Given the description of an element on the screen output the (x, y) to click on. 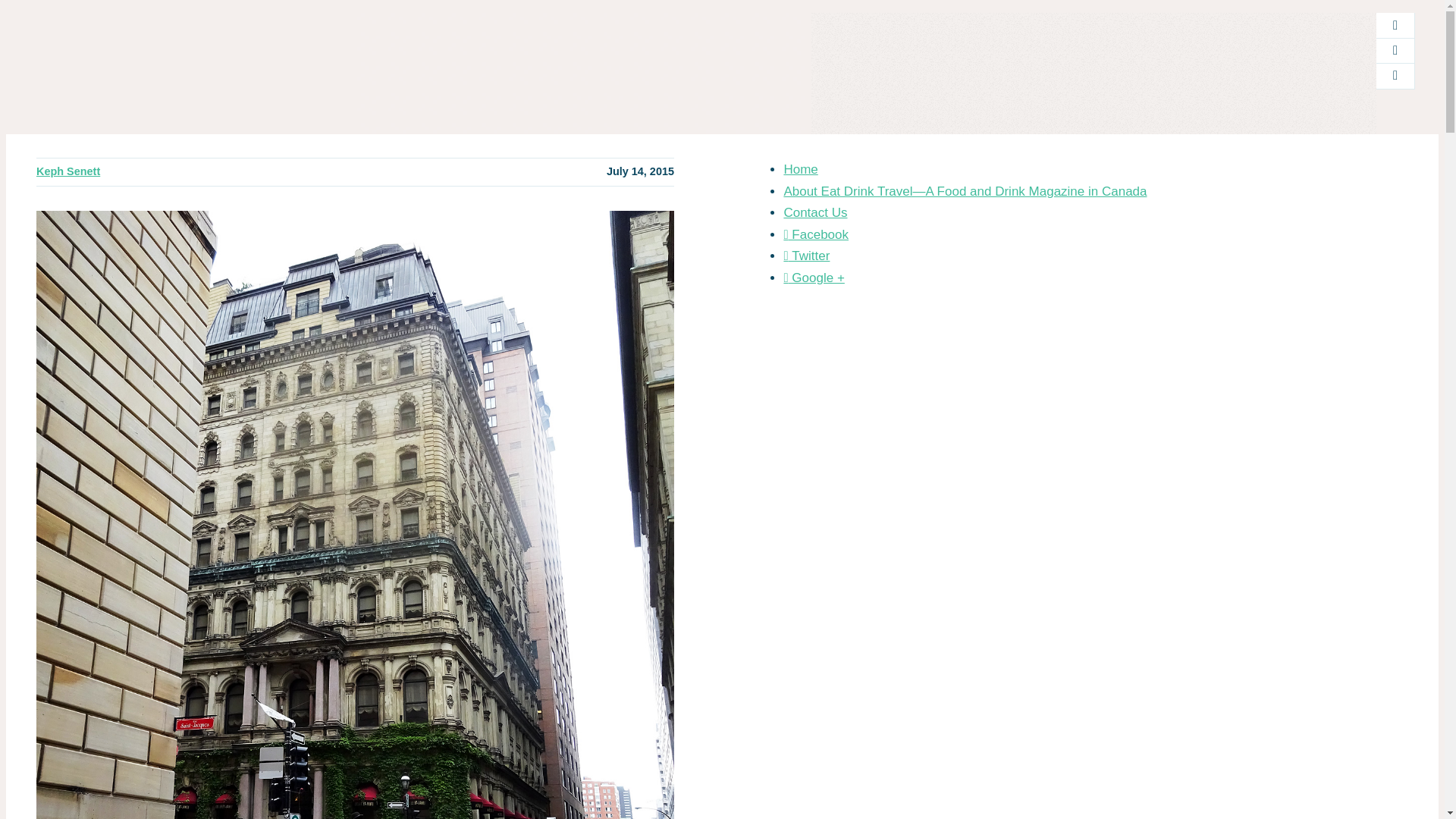
Search (913, 116)
Keph Senett (68, 171)
Search (913, 116)
